Given the description of an element on the screen output the (x, y) to click on. 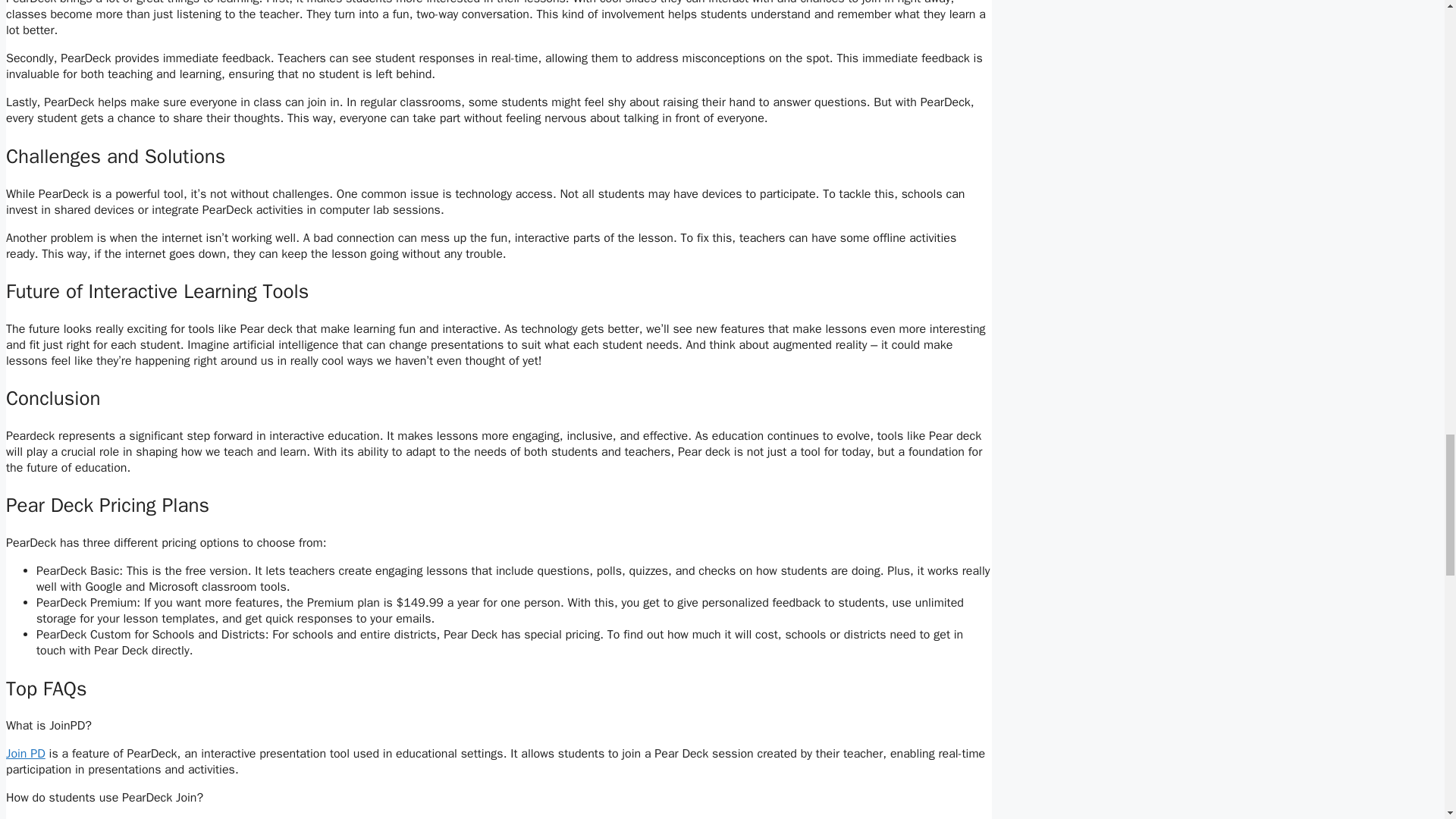
Join PD (25, 753)
